Given the description of an element on the screen output the (x, y) to click on. 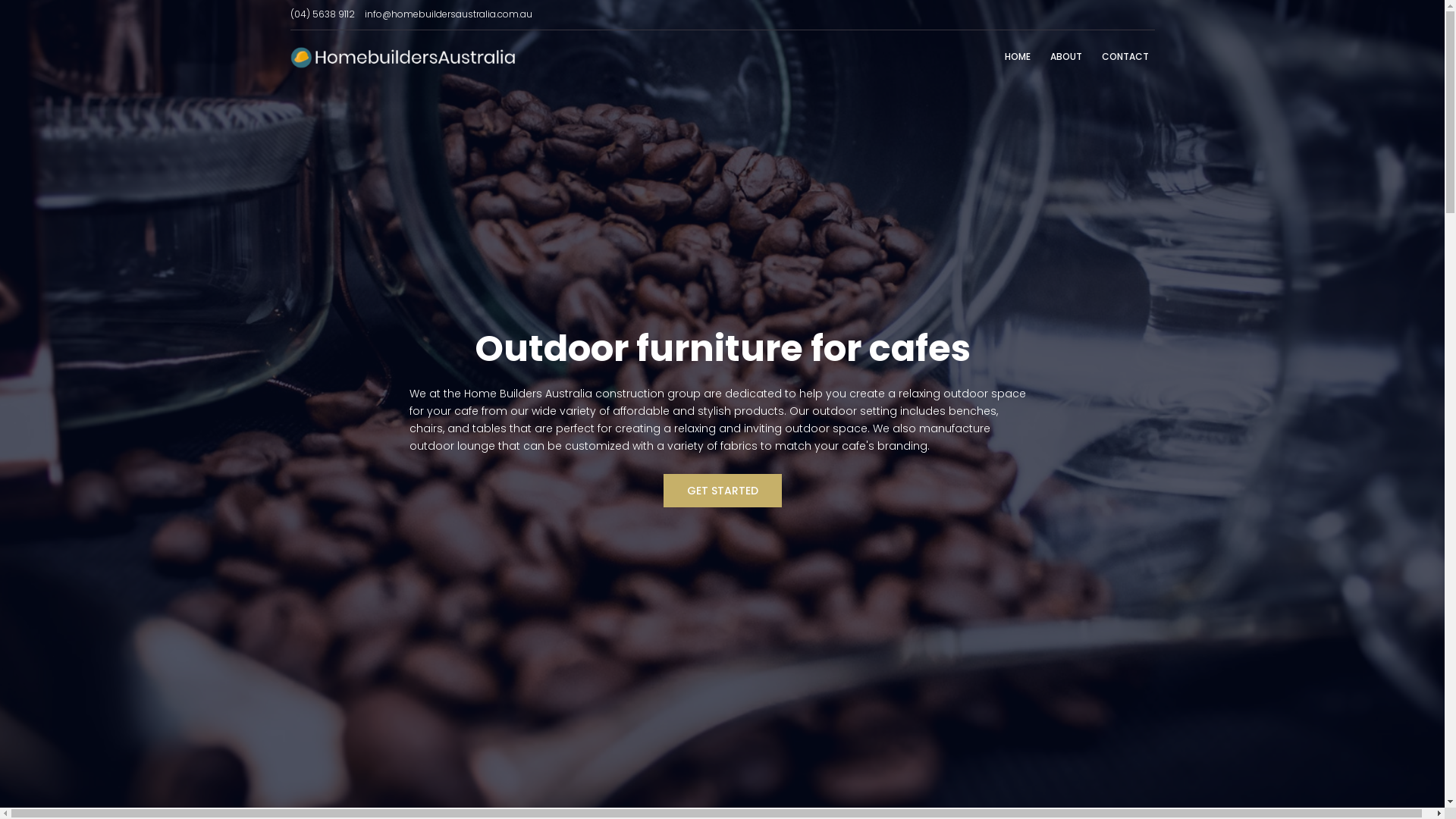
info@homebuildersaustralia.com.au Element type: text (447, 13)
ABOUT Element type: text (1065, 56)
GET STARTED Element type: text (721, 490)
(04) 5638 9112 Element type: text (321, 13)
CONTACT Element type: text (1124, 56)
HOME Element type: text (1016, 56)
